Given the description of an element on the screen output the (x, y) to click on. 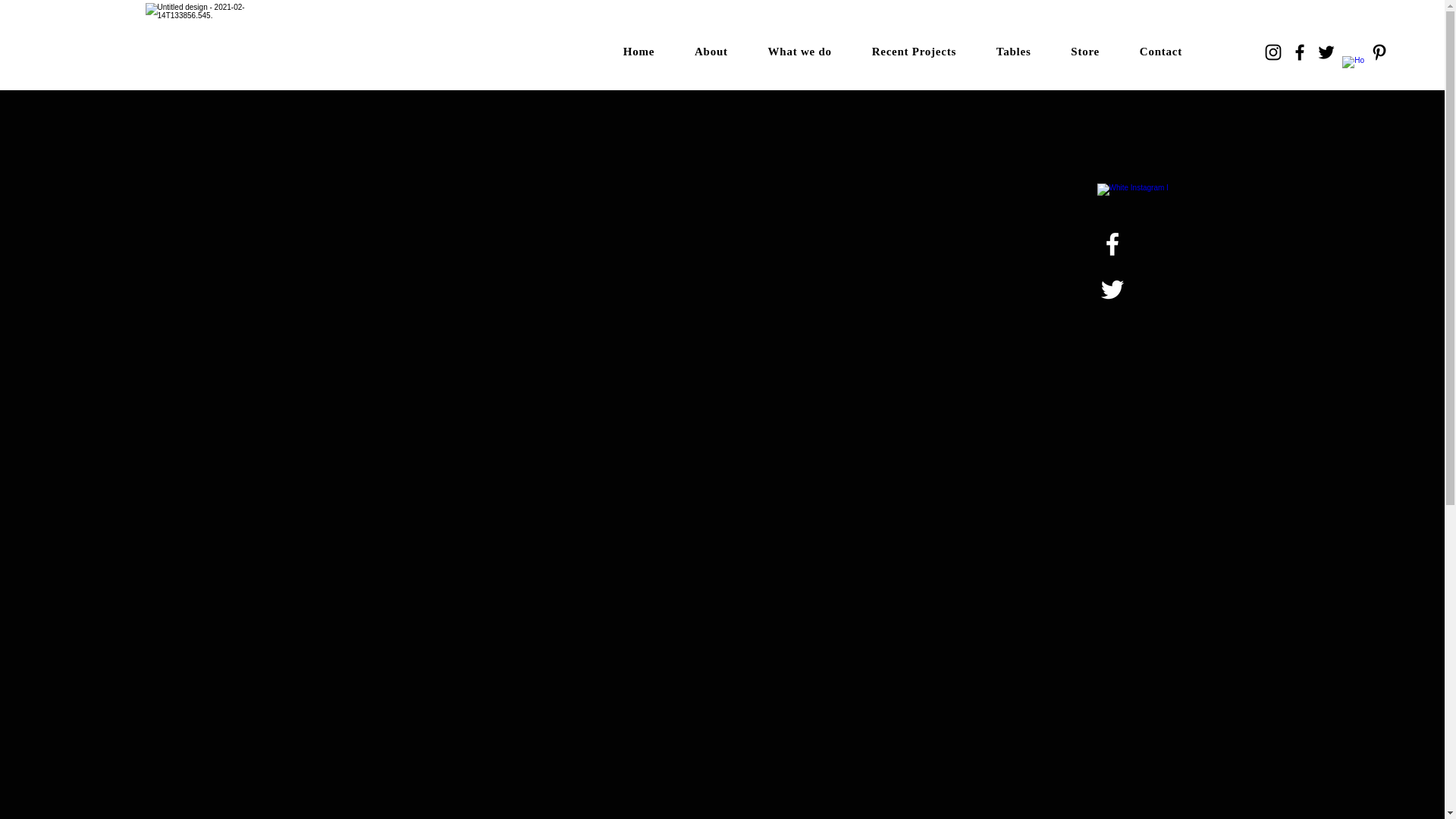
Tables (1013, 51)
Contact (1160, 51)
What we do (799, 51)
Store (1085, 51)
About (711, 51)
Recent Projects (913, 51)
Home (638, 51)
